Given the description of an element on the screen output the (x, y) to click on. 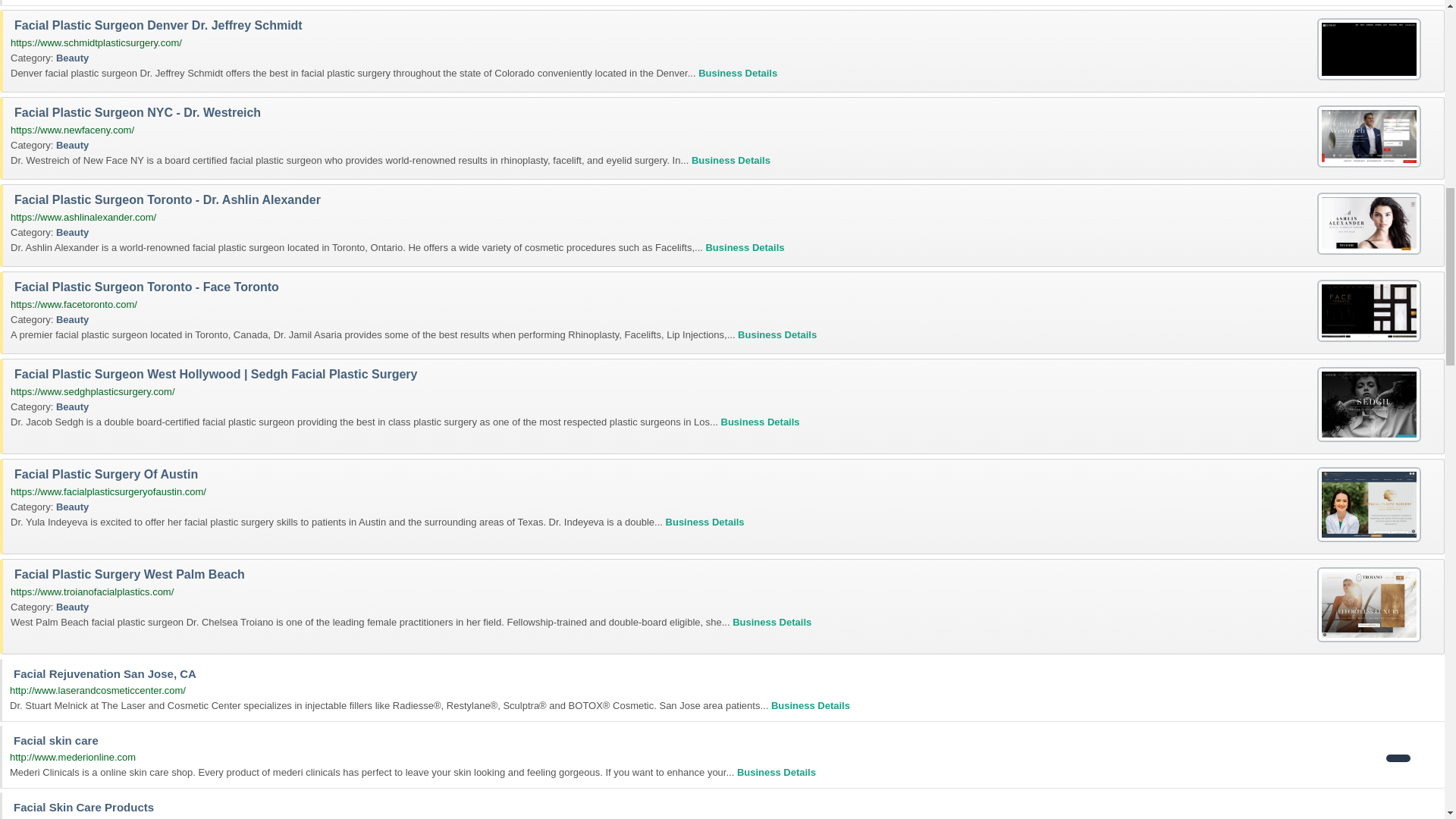
More about: Facial Plastic Surgery Of Austin (704, 521)
Beauty (72, 232)
Beauty (72, 144)
Facial Plastic Surgery Of Austin (1369, 504)
Facial Plastic Surgeon Toronto - Face Toronto (1369, 311)
Facial Plastic Surgeon NYC - Dr. Westreich (1369, 136)
Business Details (744, 247)
More about: Facial Plastic Surgeon Toronto - Face Toronto (777, 334)
Facial Plastic Surgeon Denver Dr. Jeffrey Schmidt (1369, 49)
Business Details (737, 72)
